Given the description of an element on the screen output the (x, y) to click on. 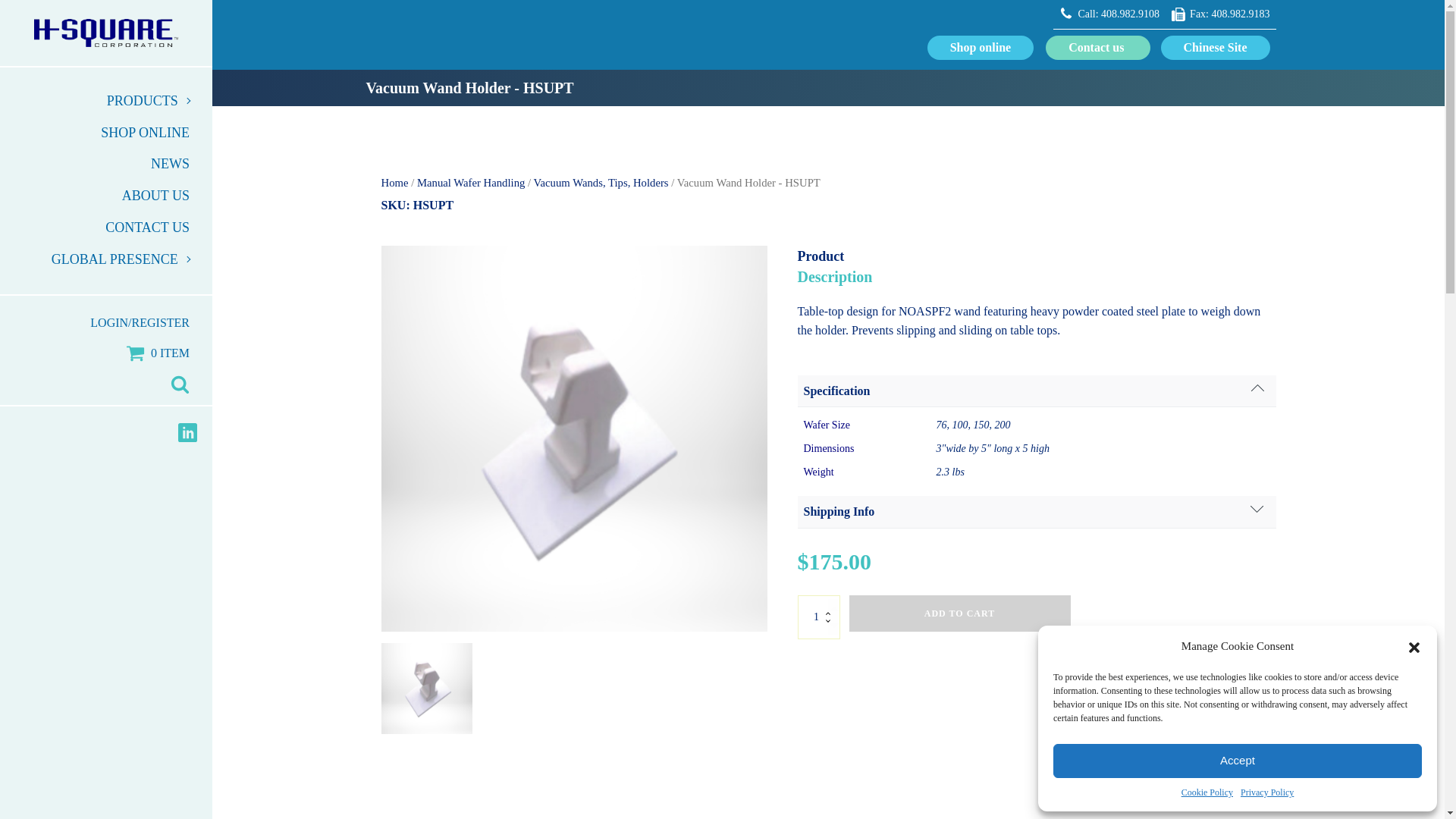
1 (818, 617)
PRODUCTS (106, 101)
